Given the description of an element on the screen output the (x, y) to click on. 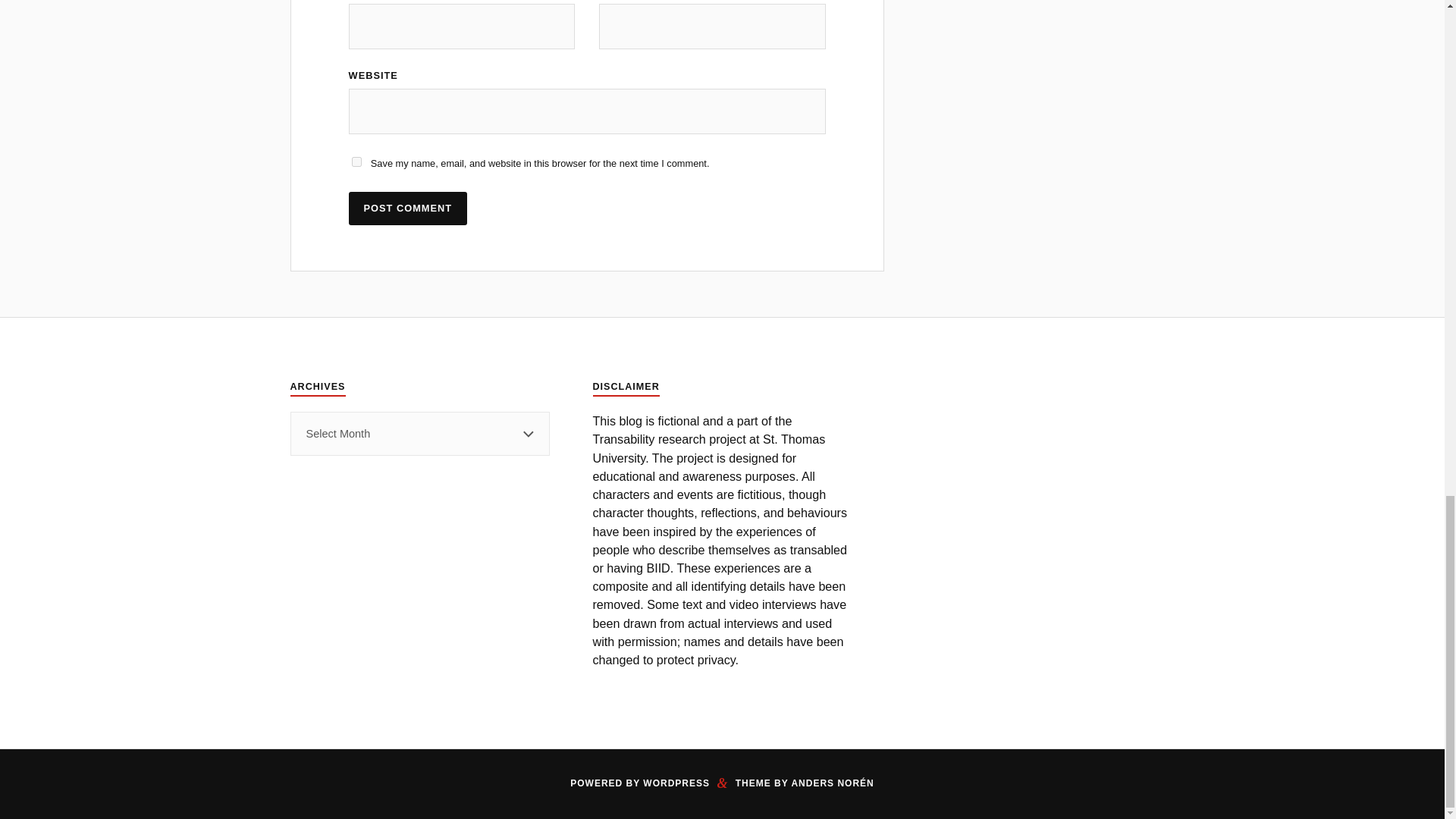
WORDPRESS (676, 783)
Post Comment (408, 207)
Post Comment (408, 207)
yes (356, 162)
